Given the description of an element on the screen output the (x, y) to click on. 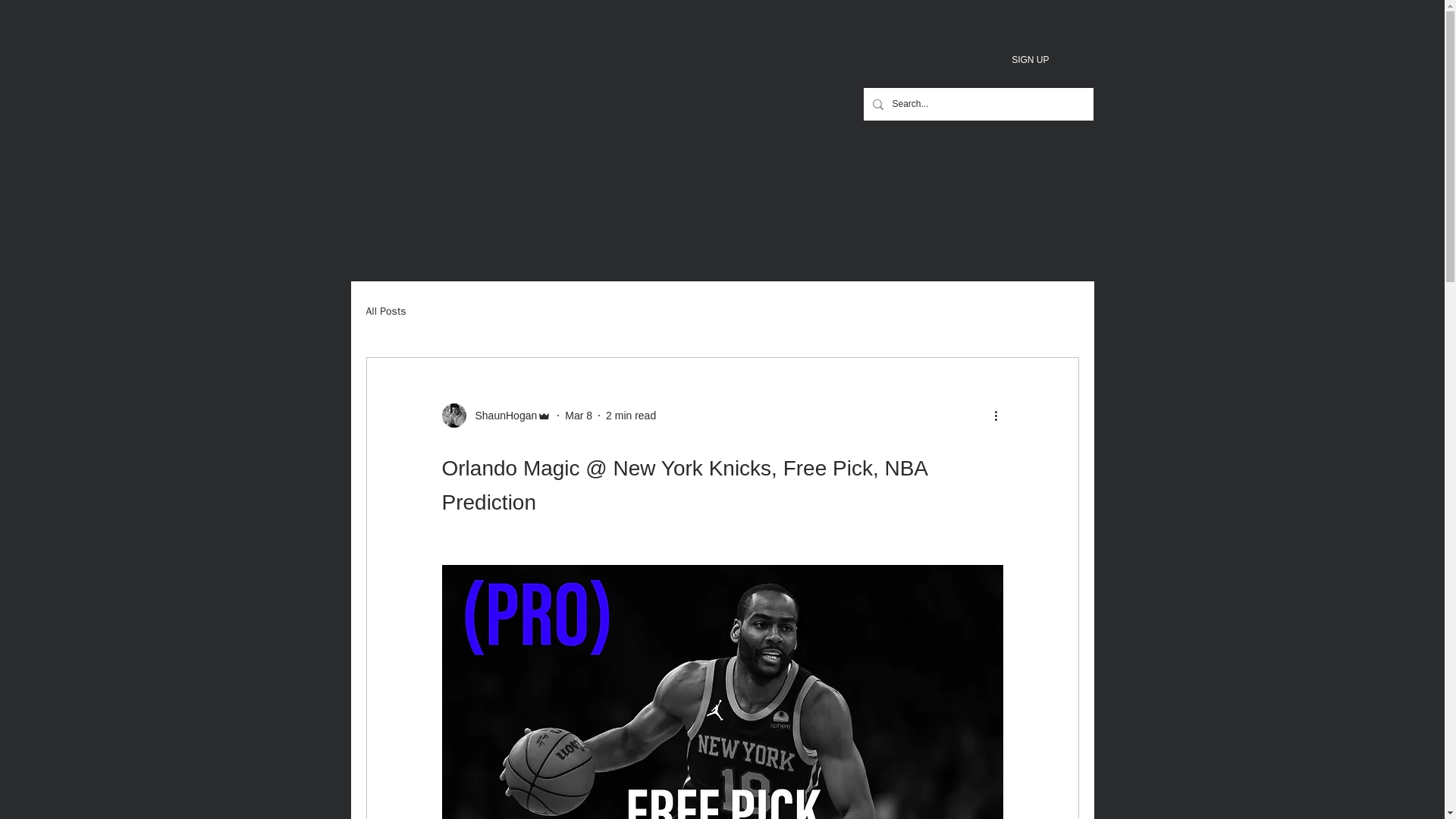
Mar 8 (578, 415)
ShaunHogan (501, 415)
2 min read (630, 415)
SIGN UP (1030, 60)
All Posts (385, 311)
ShaunHogan (496, 415)
